Given the description of an element on the screen output the (x, y) to click on. 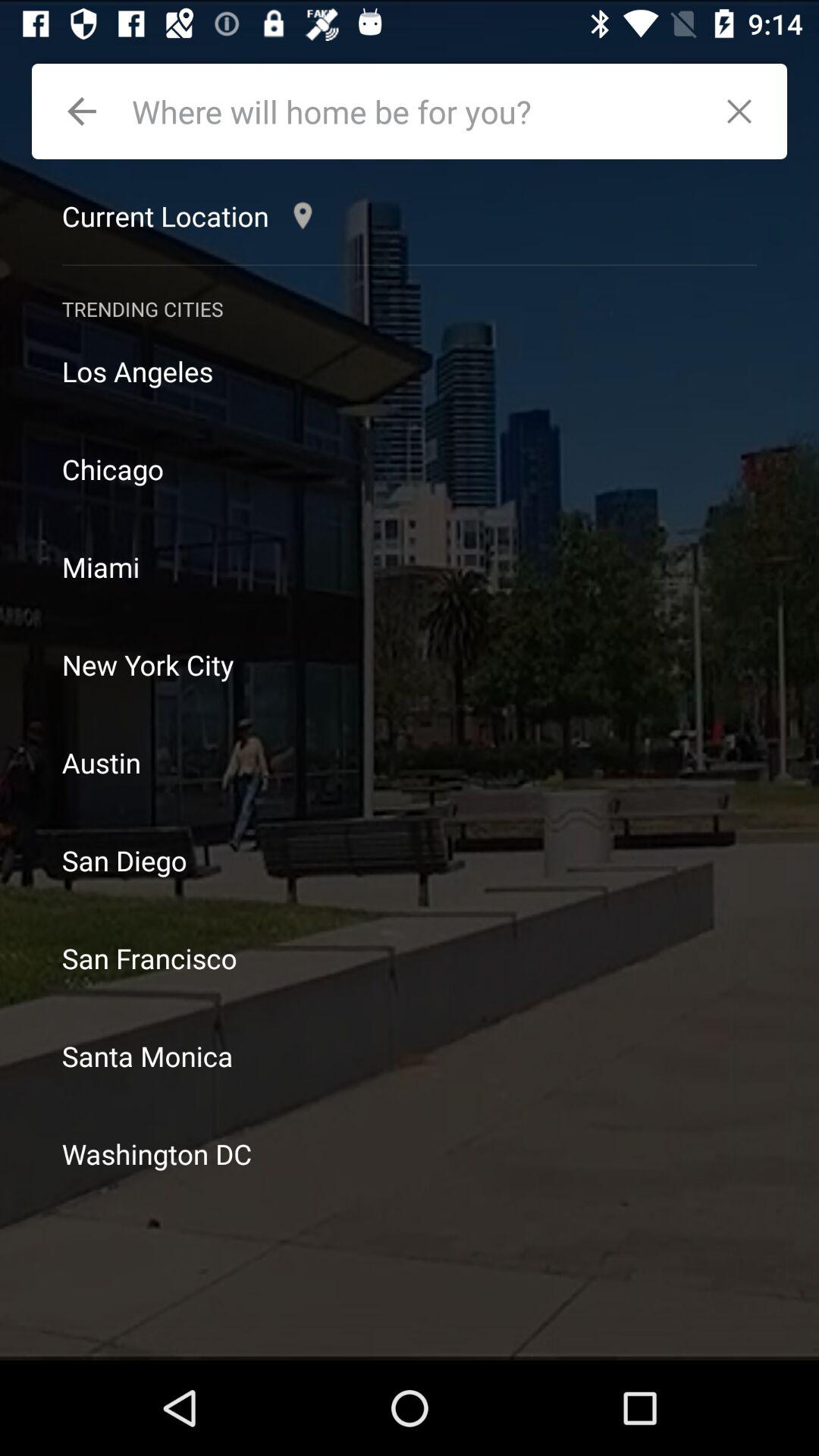
press the item above current location icon (81, 111)
